Given the description of an element on the screen output the (x, y) to click on. 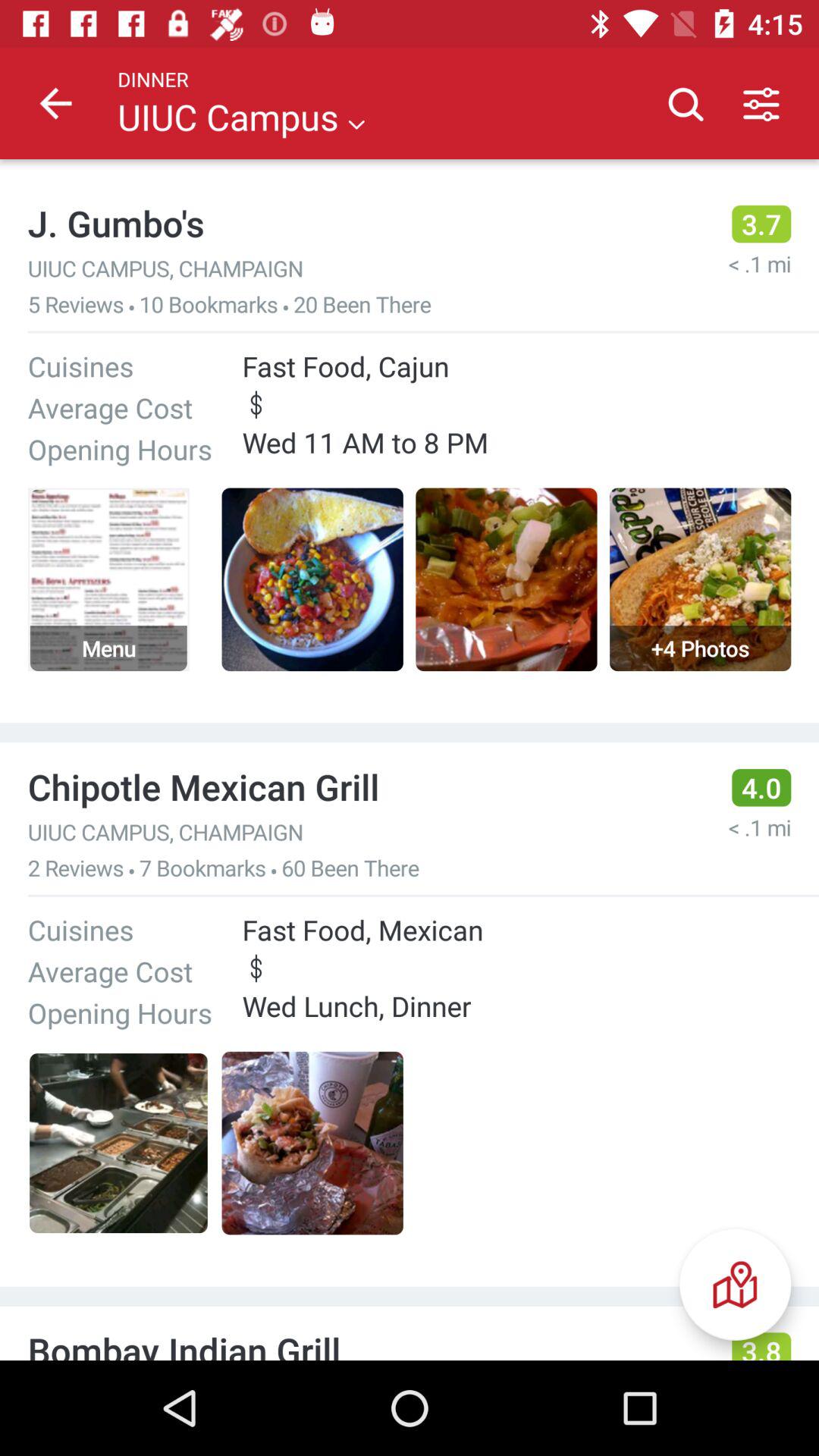
launch the item above j. gumbo's (55, 103)
